Given the description of an element on the screen output the (x, y) to click on. 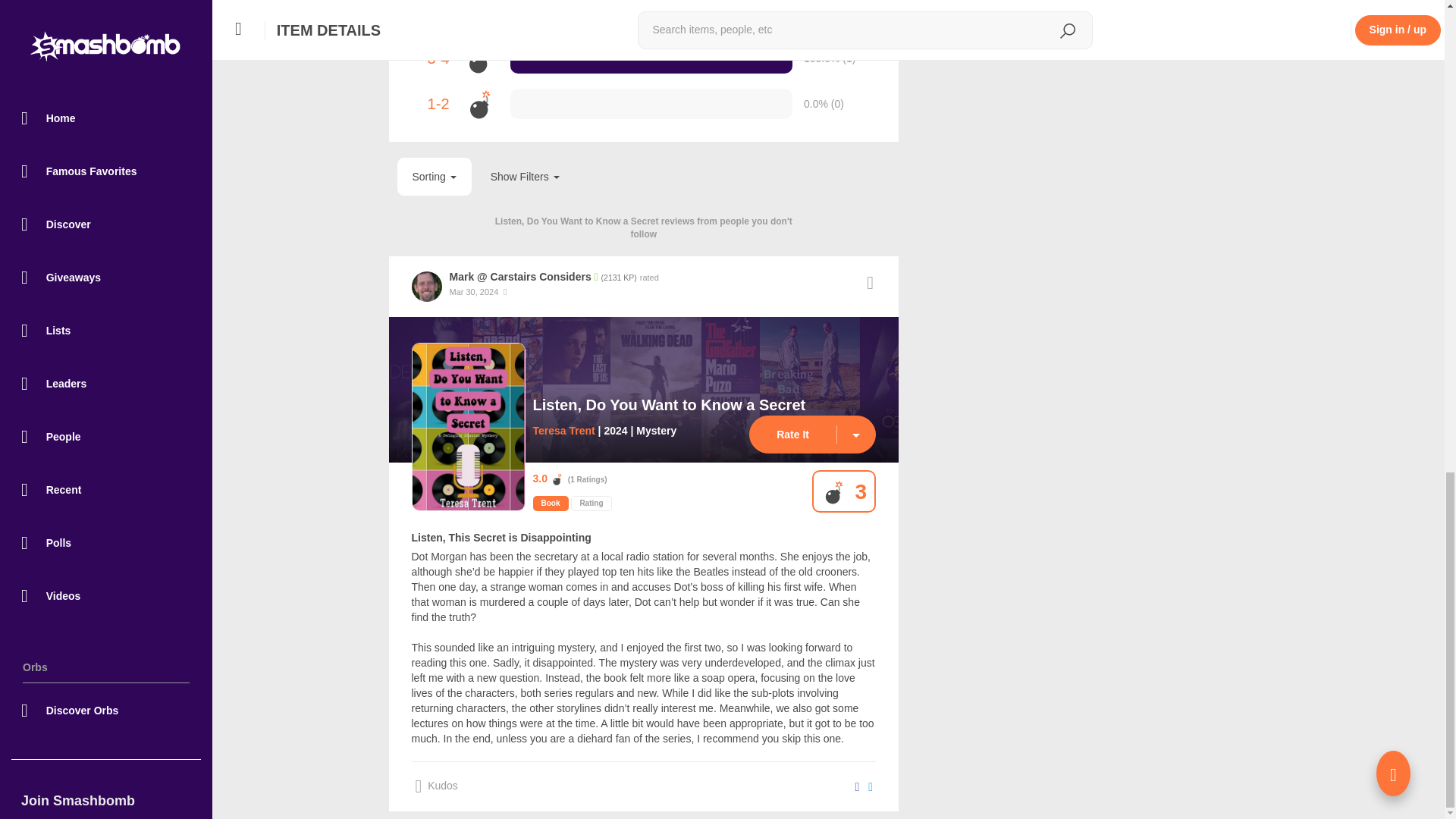
Listen, Do You Want to Know a Secret (668, 404)
Teresa Trent (563, 430)
Mar 30, 2024 - 5:29 AM (472, 291)
